Given the description of an element on the screen output the (x, y) to click on. 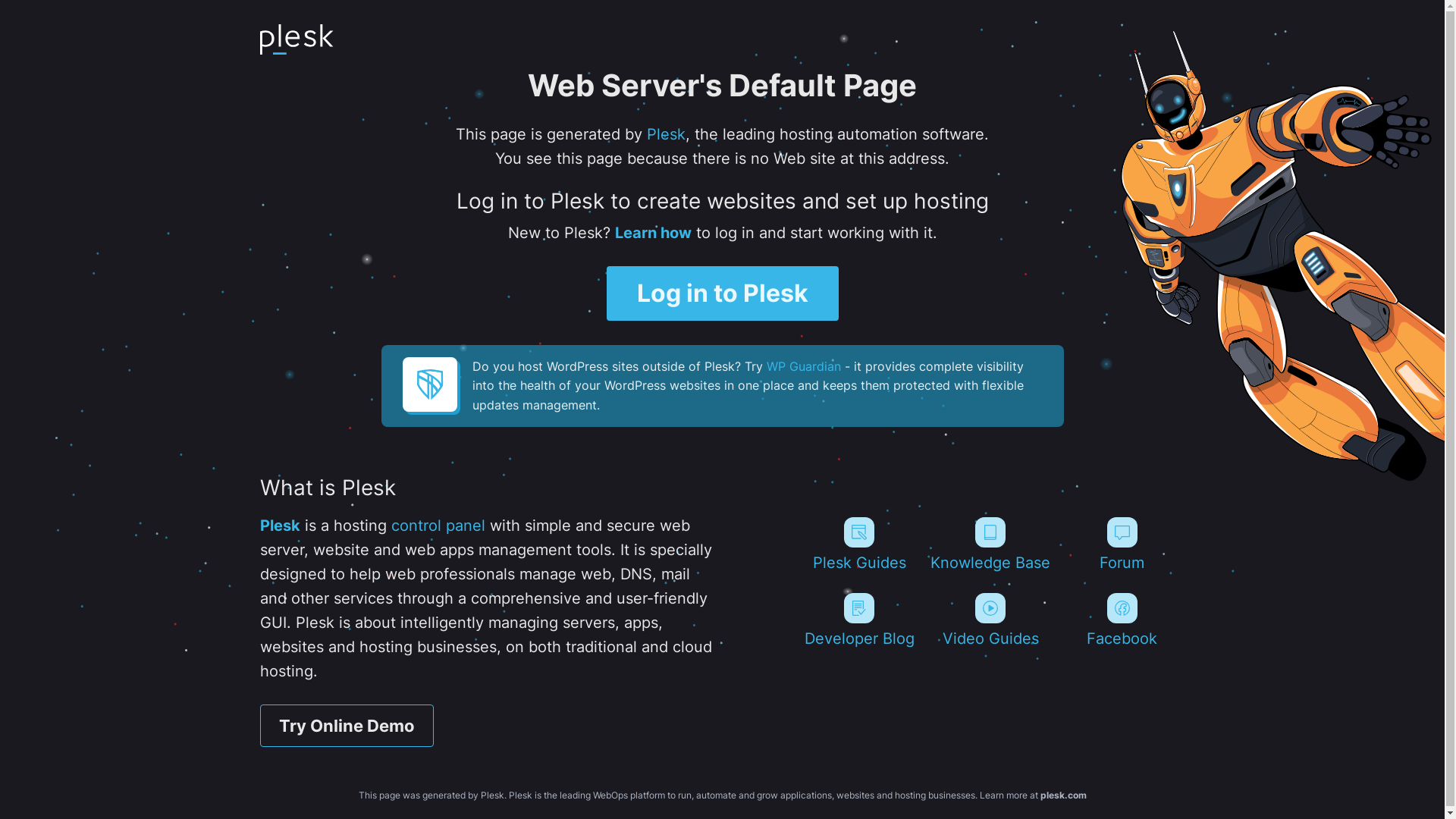
Knowledge Base Element type: text (990, 544)
Forum Element type: text (1121, 544)
WP Guardian Element type: text (802, 365)
Plesk Guides Element type: text (858, 544)
Plesk Element type: text (665, 134)
plesk.com Element type: text (1063, 794)
Log in to Plesk Element type: text (722, 293)
Video Guides Element type: text (990, 620)
Developer Blog Element type: text (858, 620)
control panel Element type: text (438, 525)
Plesk Element type: text (279, 525)
Try Online Demo Element type: text (346, 725)
Facebook Element type: text (1121, 620)
Learn how Element type: text (652, 232)
